Given the description of an element on the screen output the (x, y) to click on. 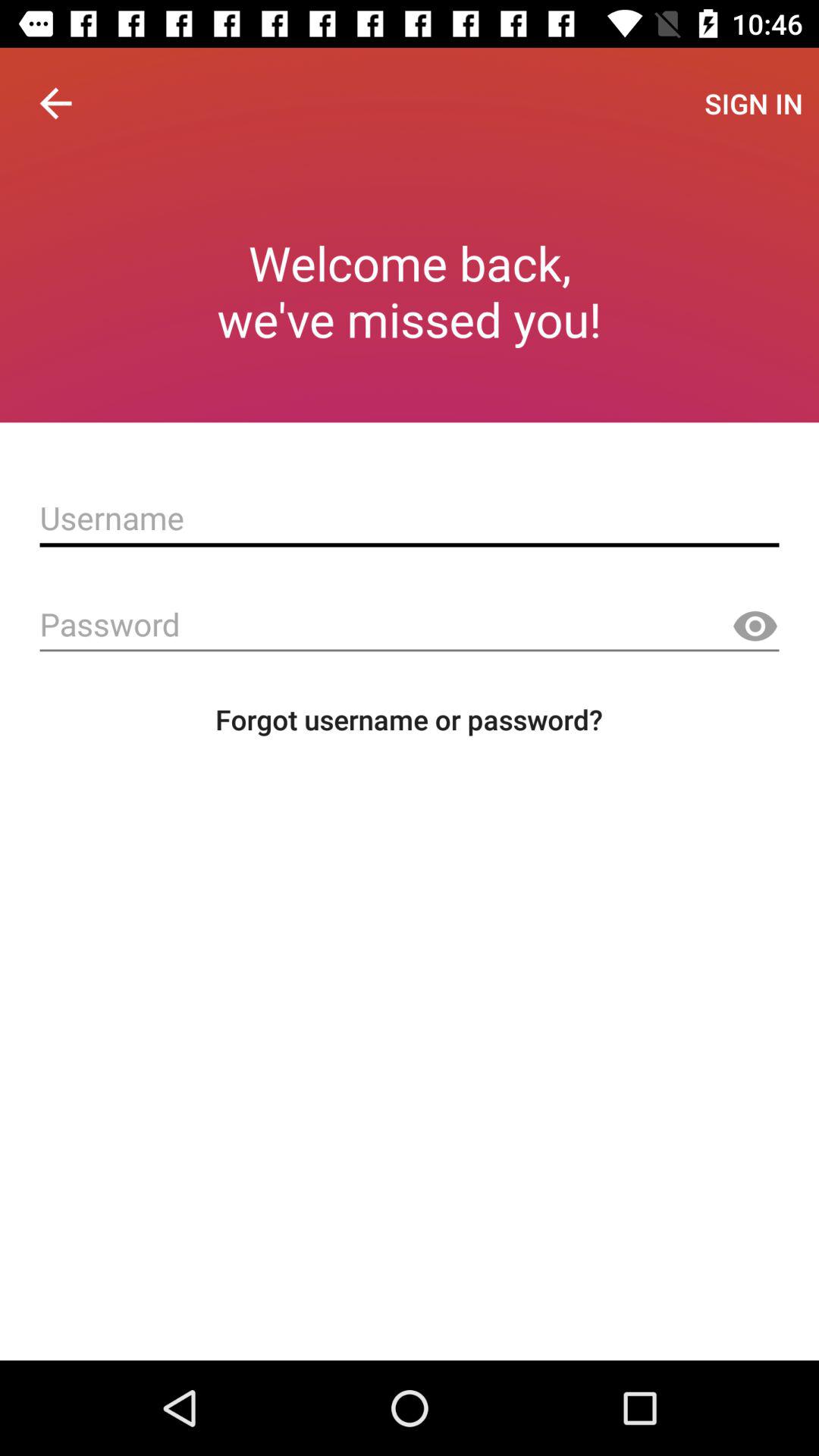
enter password (409, 624)
